Given the description of an element on the screen output the (x, y) to click on. 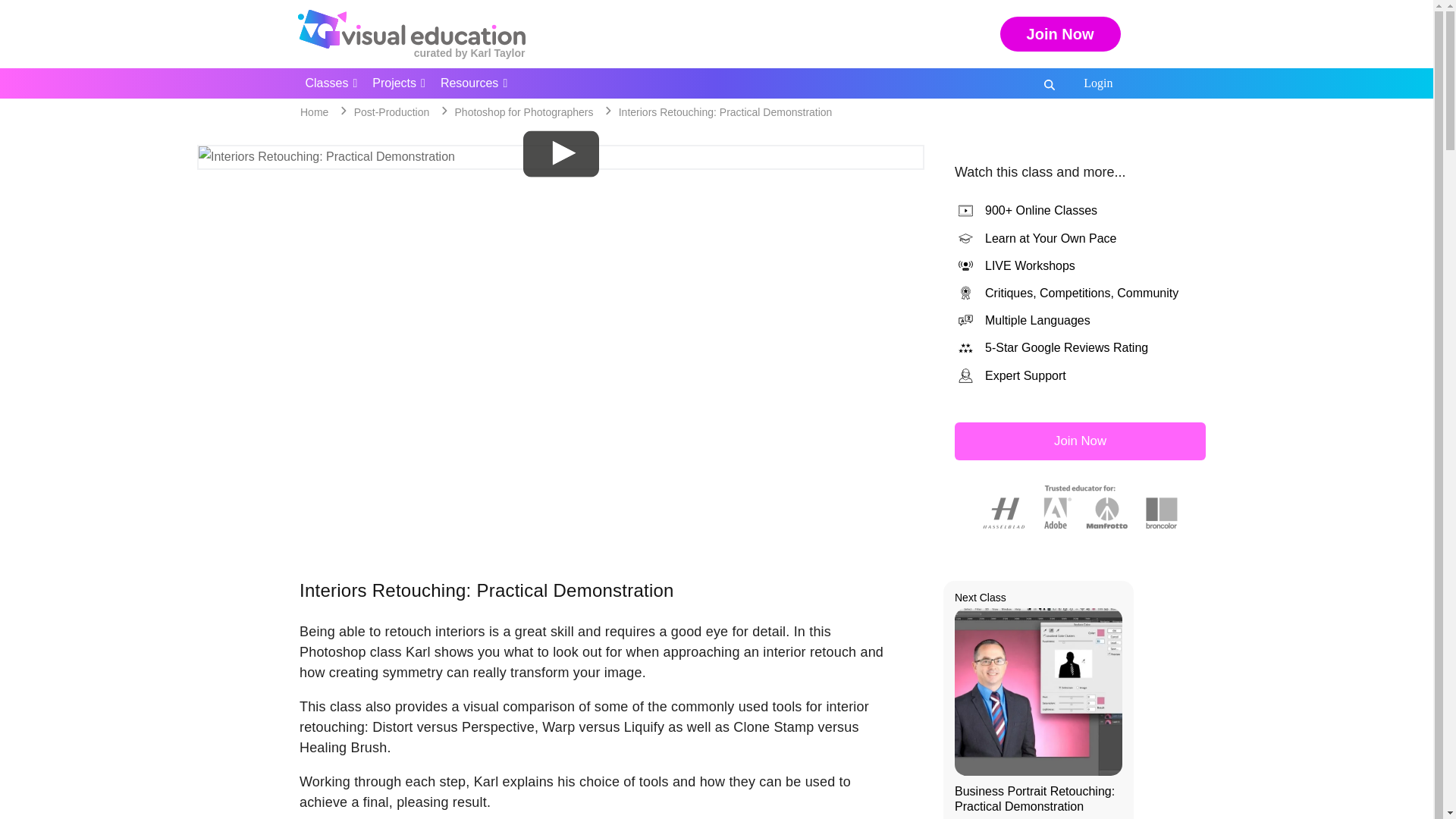
You Are Here (725, 112)
Join Now (1060, 33)
Classes (331, 82)
